Given the description of an element on the screen output the (x, y) to click on. 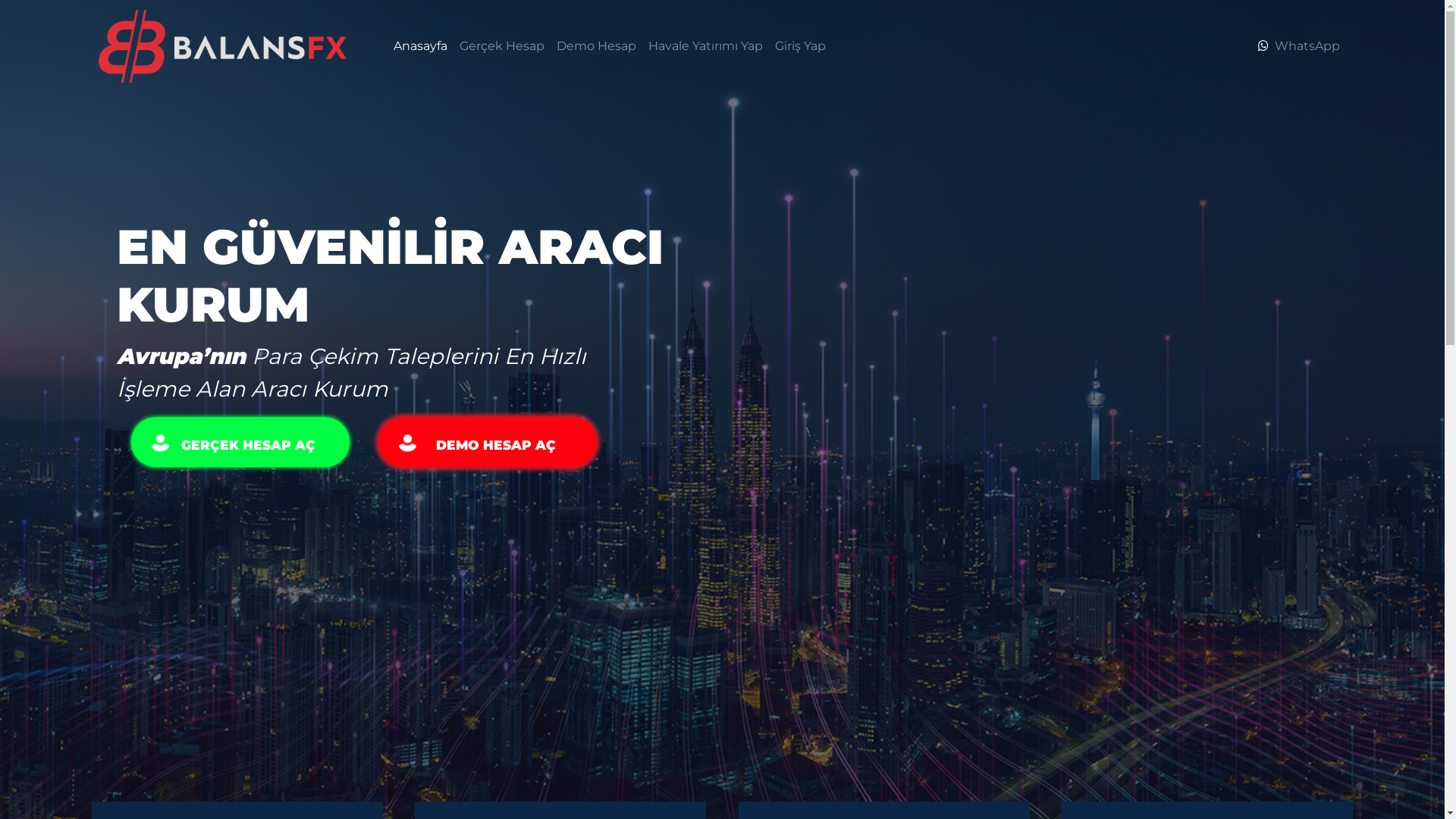
Anasayfa Element type: text (420, 46)
WhatsApp Element type: text (1307, 45)
Demo Hesap Element type: text (596, 46)
